Given the description of an element on the screen output the (x, y) to click on. 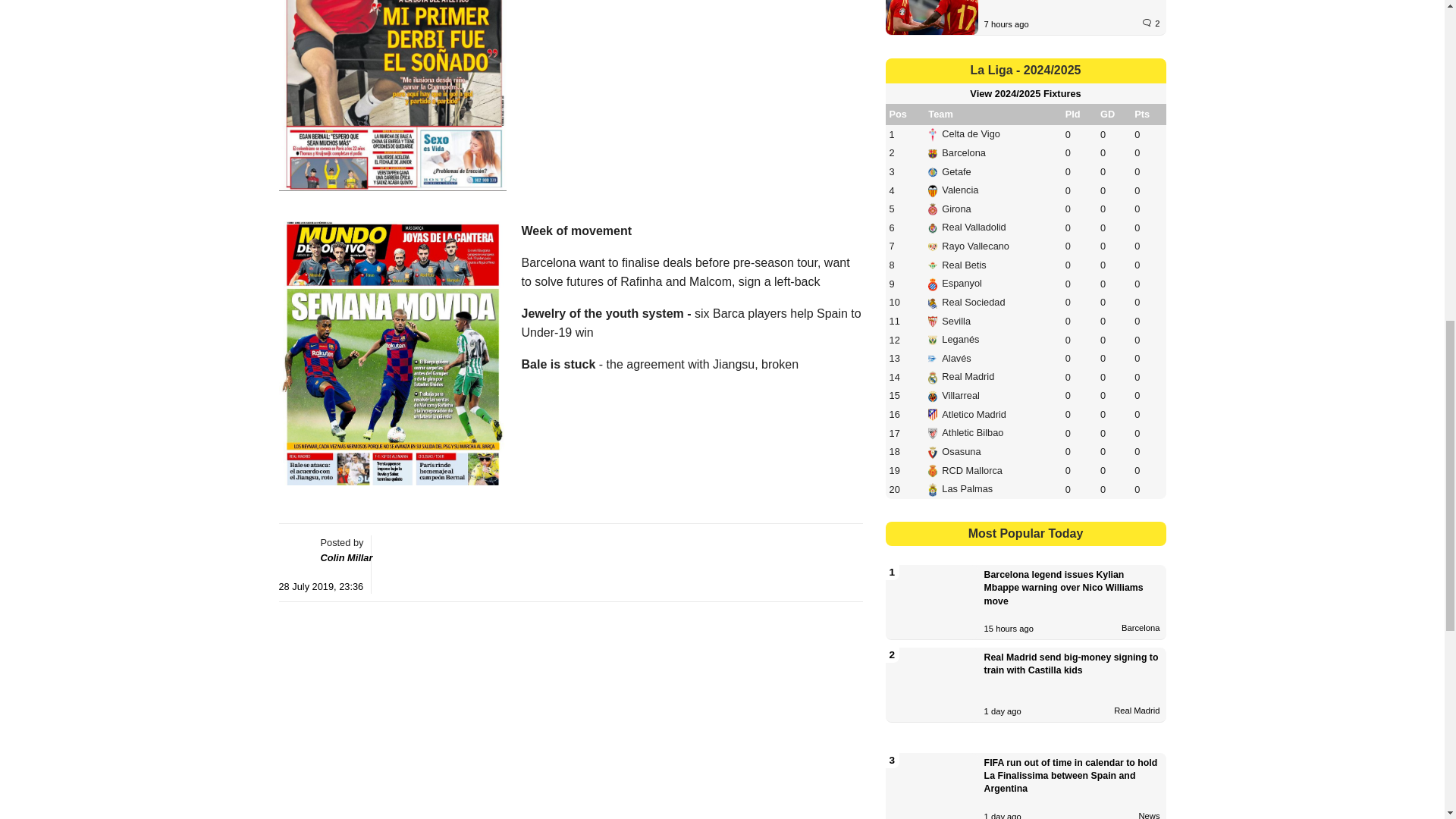
View more articles by Colin Millar (346, 557)
